Given the description of an element on the screen output the (x, y) to click on. 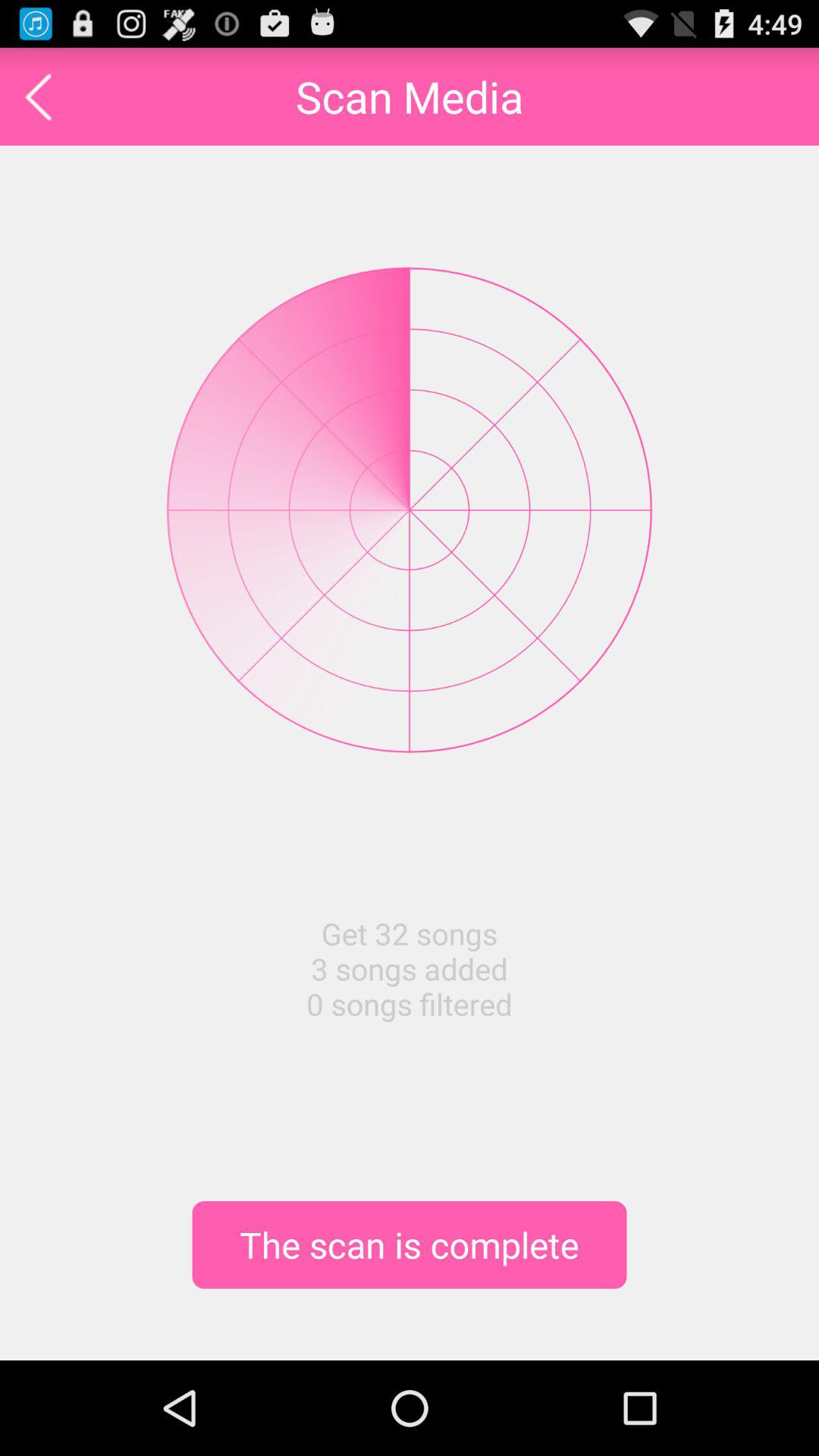
flip to the scan is icon (409, 1244)
